Given the description of an element on the screen output the (x, y) to click on. 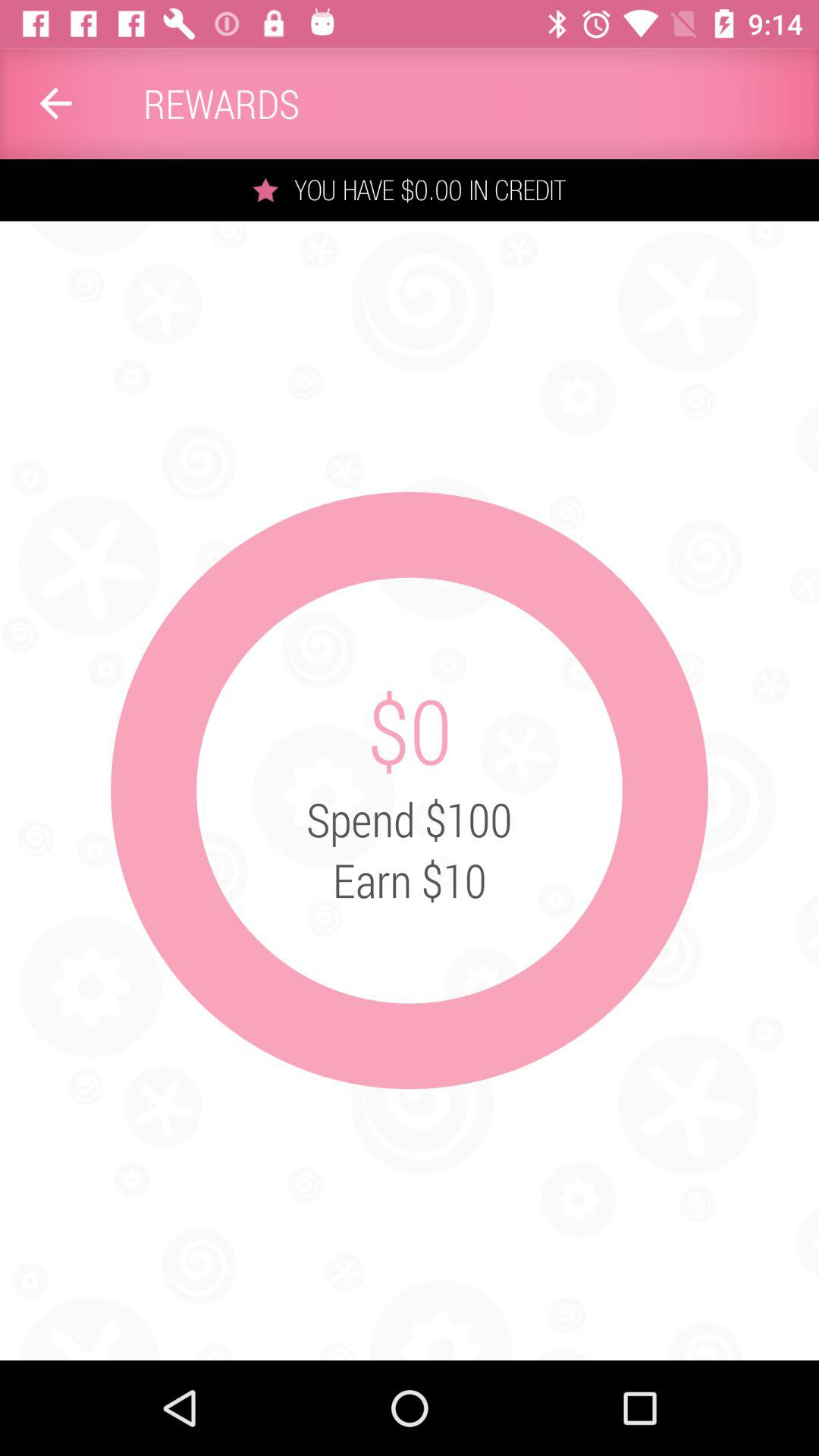
select item next to the rewards app (55, 103)
